Given the description of an element on the screen output the (x, y) to click on. 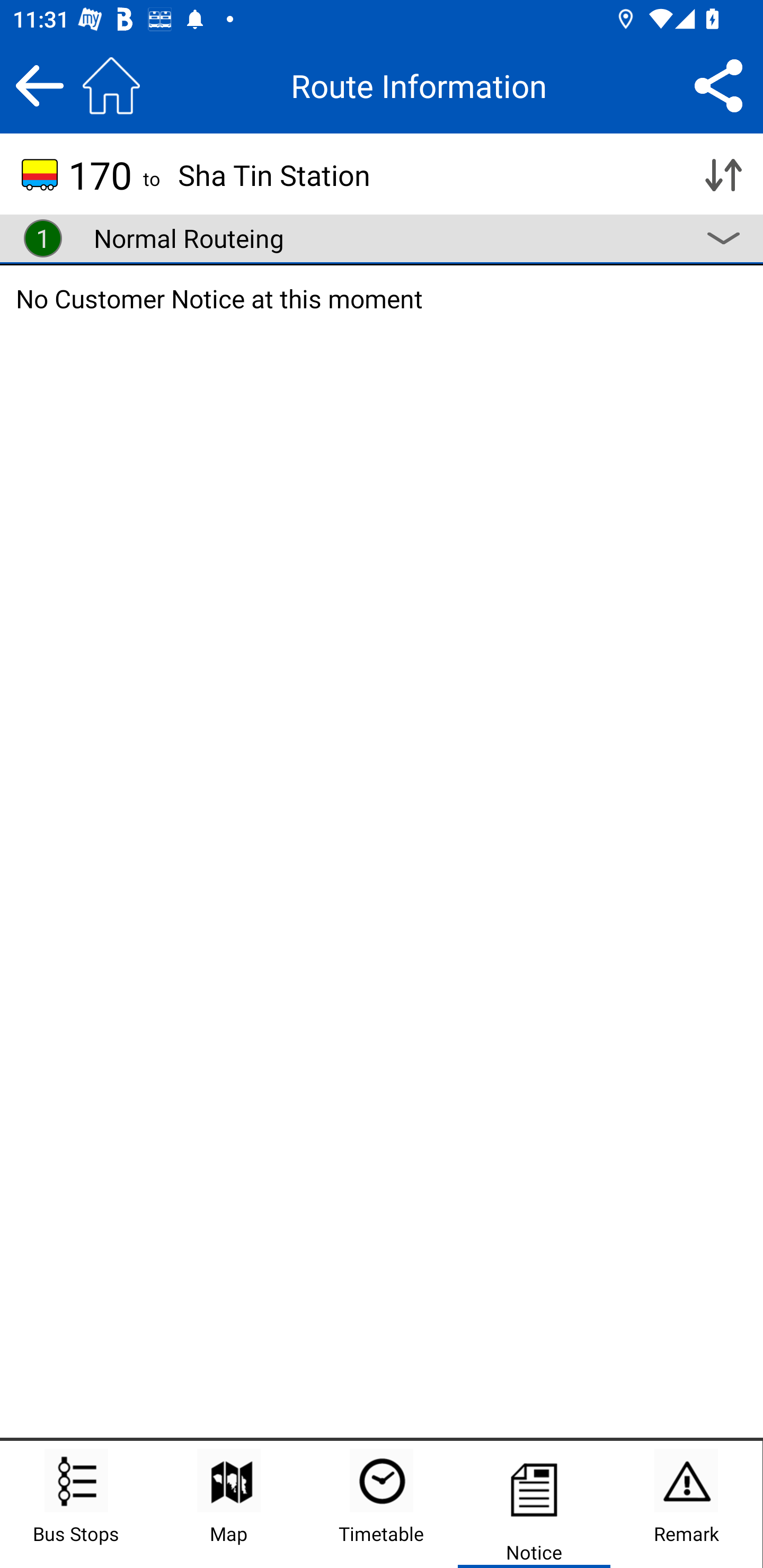
Jump to home page (111, 85)
Share point to point route search criteria) (718, 85)
Back (39, 85)
Reverse direction (723, 174)
Other routes (723, 238)
Bus Stops (76, 1504)
Map (228, 1504)
Timetable (381, 1504)
Notice (533, 1504)
Remark (686, 1504)
